Given the description of an element on the screen output the (x, y) to click on. 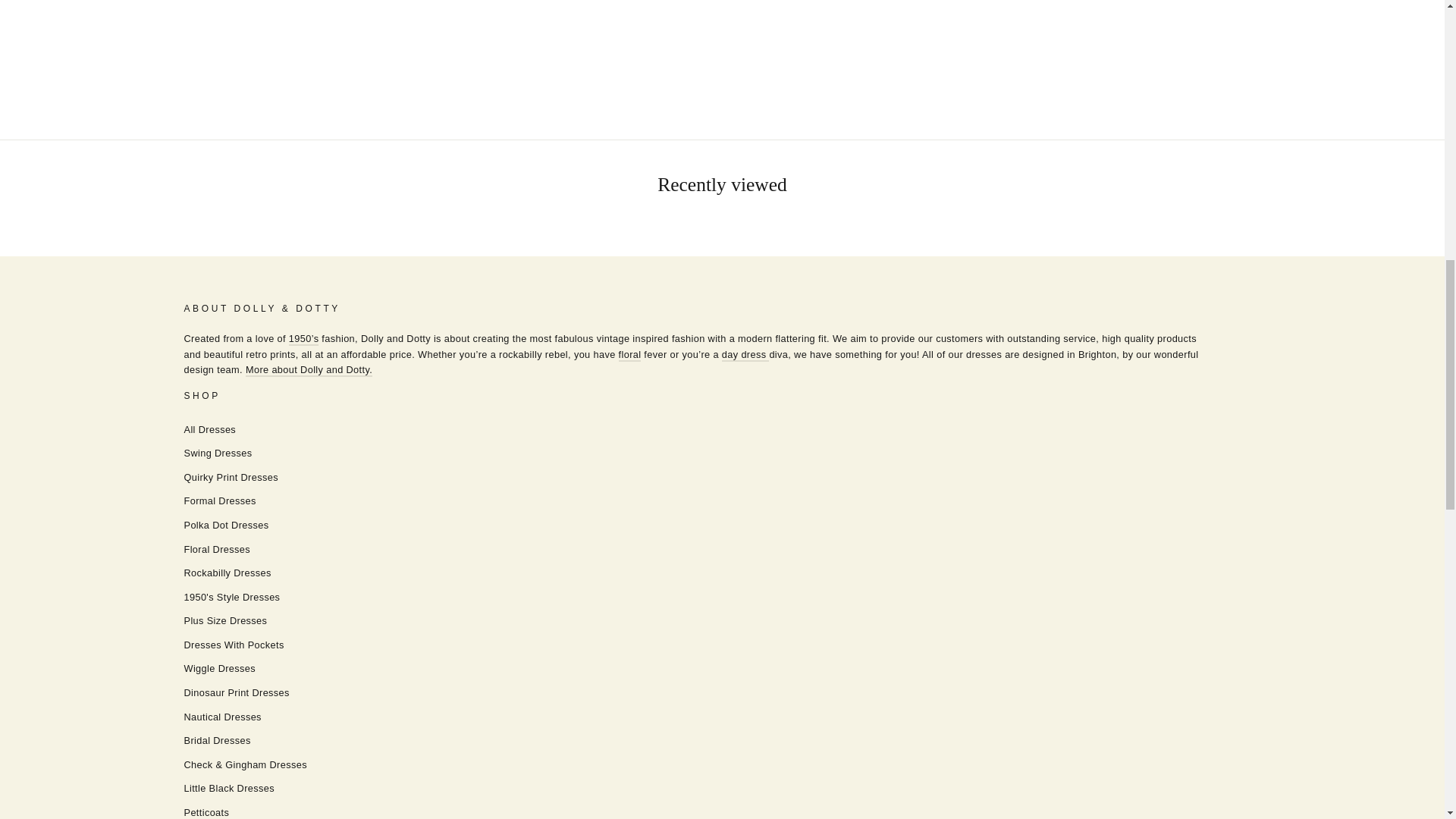
1950's Style Dresses (303, 338)
Casual Dresses (746, 354)
Floral Dresses (630, 354)
